Given the description of an element on the screen output the (x, y) to click on. 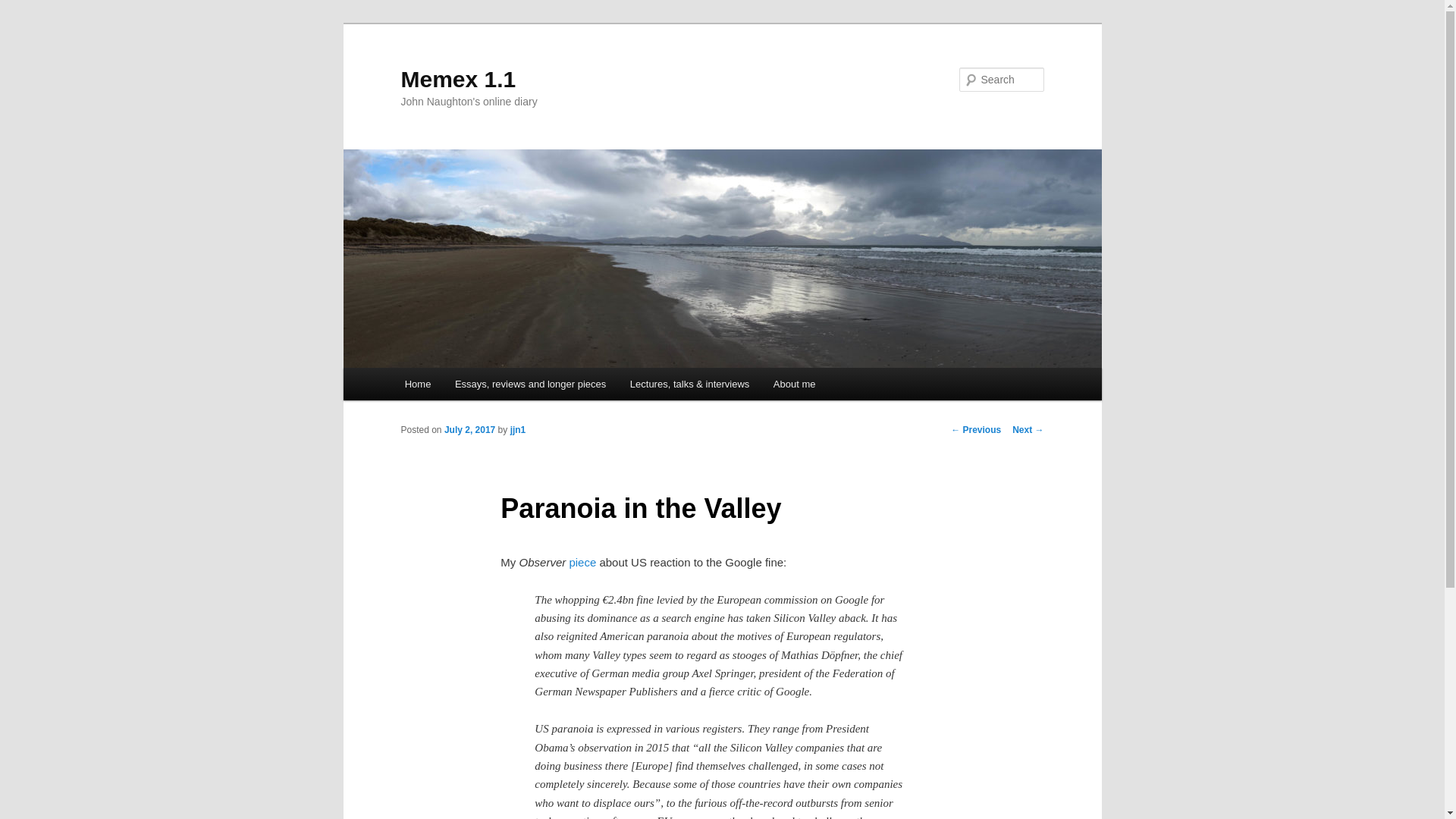
Memex 1.1 (457, 78)
Search (24, 8)
Home (417, 383)
July 2, 2017 (469, 429)
jjn1 (518, 429)
About me (794, 383)
piece (582, 562)
Essays, reviews and longer pieces (529, 383)
